Given the description of an element on the screen output the (x, y) to click on. 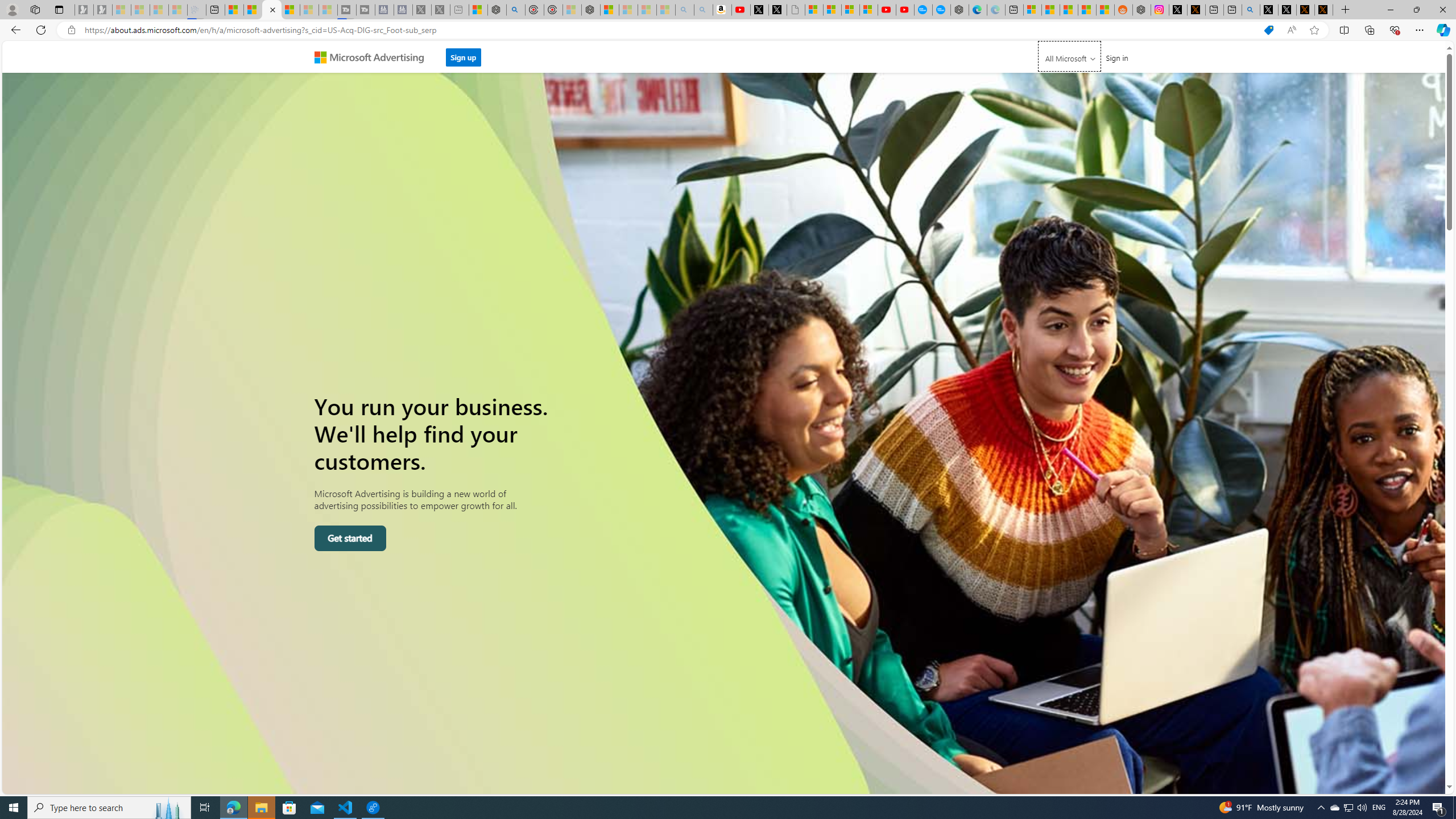
Get started (349, 537)
Sign up (462, 53)
Microsoft account | Microsoft Account Privacy Settings (1032, 9)
